Given the description of an element on the screen output the (x, y) to click on. 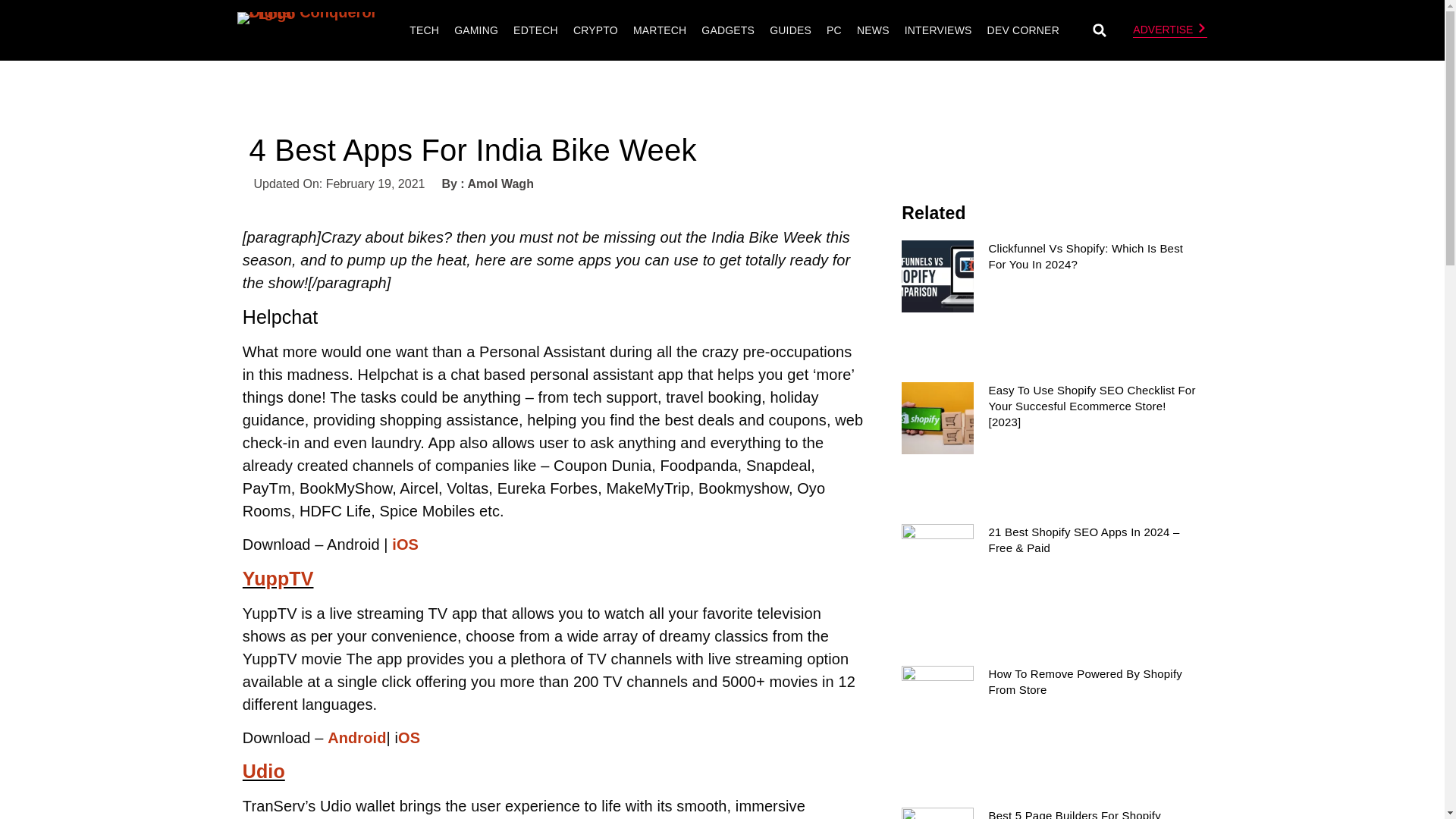
GAMING (475, 30)
MARTECH (659, 30)
TECH (424, 30)
INTERVIEWS (938, 30)
NEWS (873, 30)
DEV CORNER (1022, 30)
GADGETS (727, 30)
GUIDES (790, 30)
EDTECH (535, 30)
CRYPTO (595, 30)
